Given the description of an element on the screen output the (x, y) to click on. 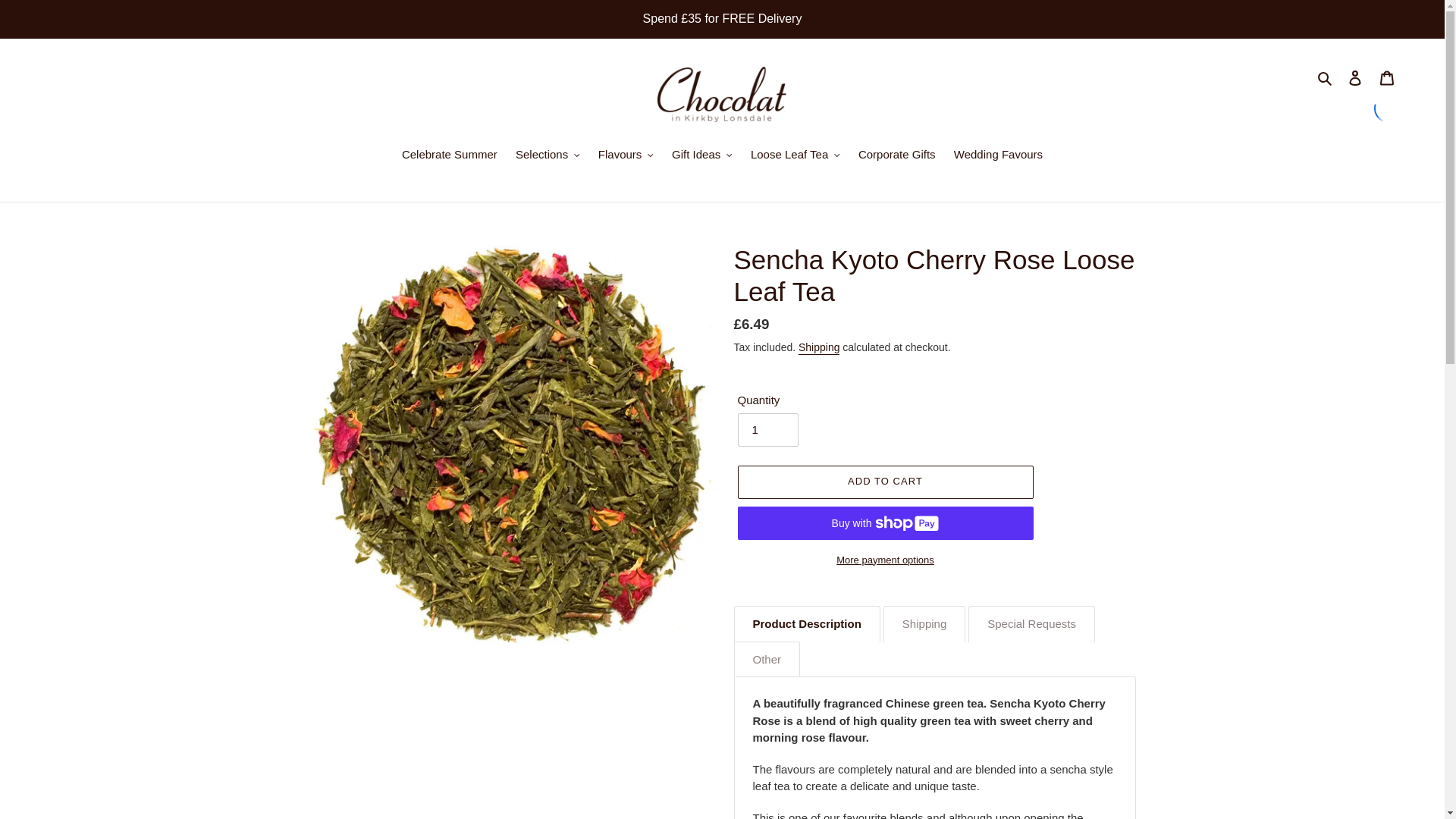
Search (1326, 76)
1 (766, 429)
Google Review Widget (1388, 108)
Log in (1355, 77)
Cart (1387, 77)
